Given the description of an element on the screen output the (x, y) to click on. 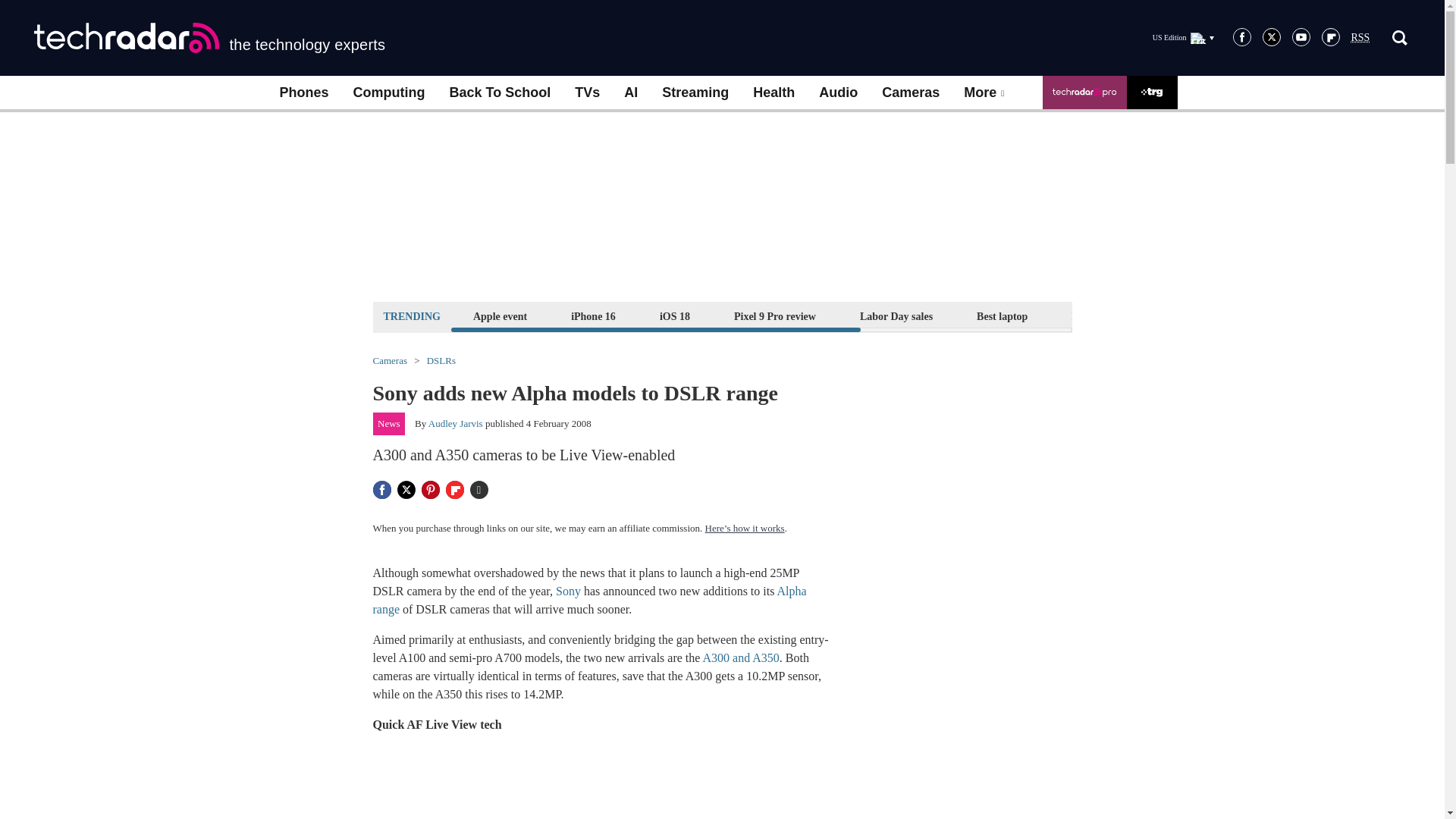
Back To School (499, 92)
Audio (837, 92)
Computing (389, 92)
Cameras (910, 92)
US Edition (1182, 37)
Health (773, 92)
Really Simple Syndication (1360, 37)
AI (630, 92)
the technology experts (209, 38)
Phones (303, 92)
